Given the description of an element on the screen output the (x, y) to click on. 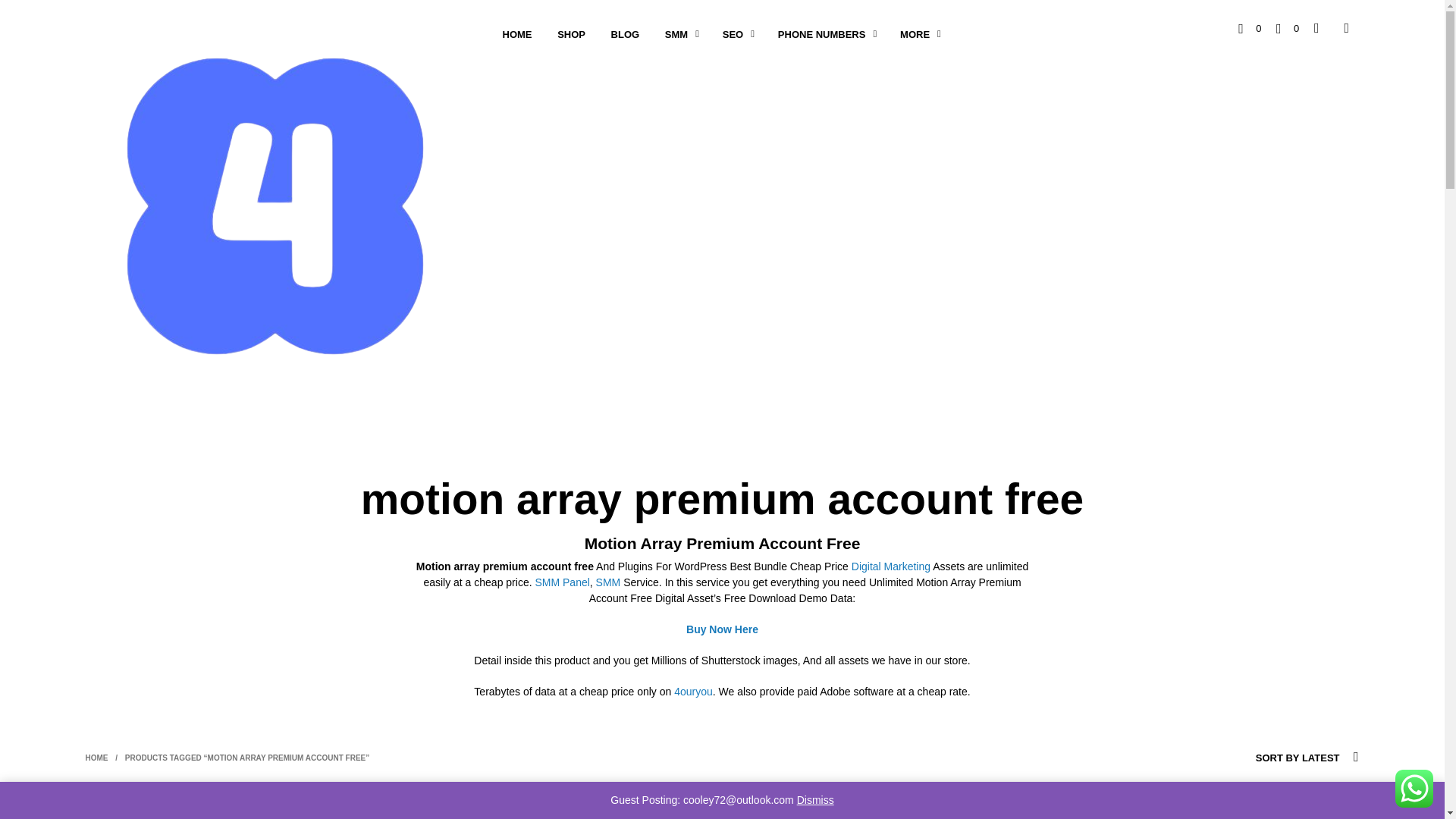
BLOG (624, 34)
0 (1249, 27)
MORE (914, 34)
Advertisement (721, 806)
HOME (517, 34)
Sort by latest (1273, 758)
SHOP (571, 34)
SMM (675, 34)
SEO (732, 34)
PHONE NUMBERS (822, 34)
0 (1287, 27)
